Given the description of an element on the screen output the (x, y) to click on. 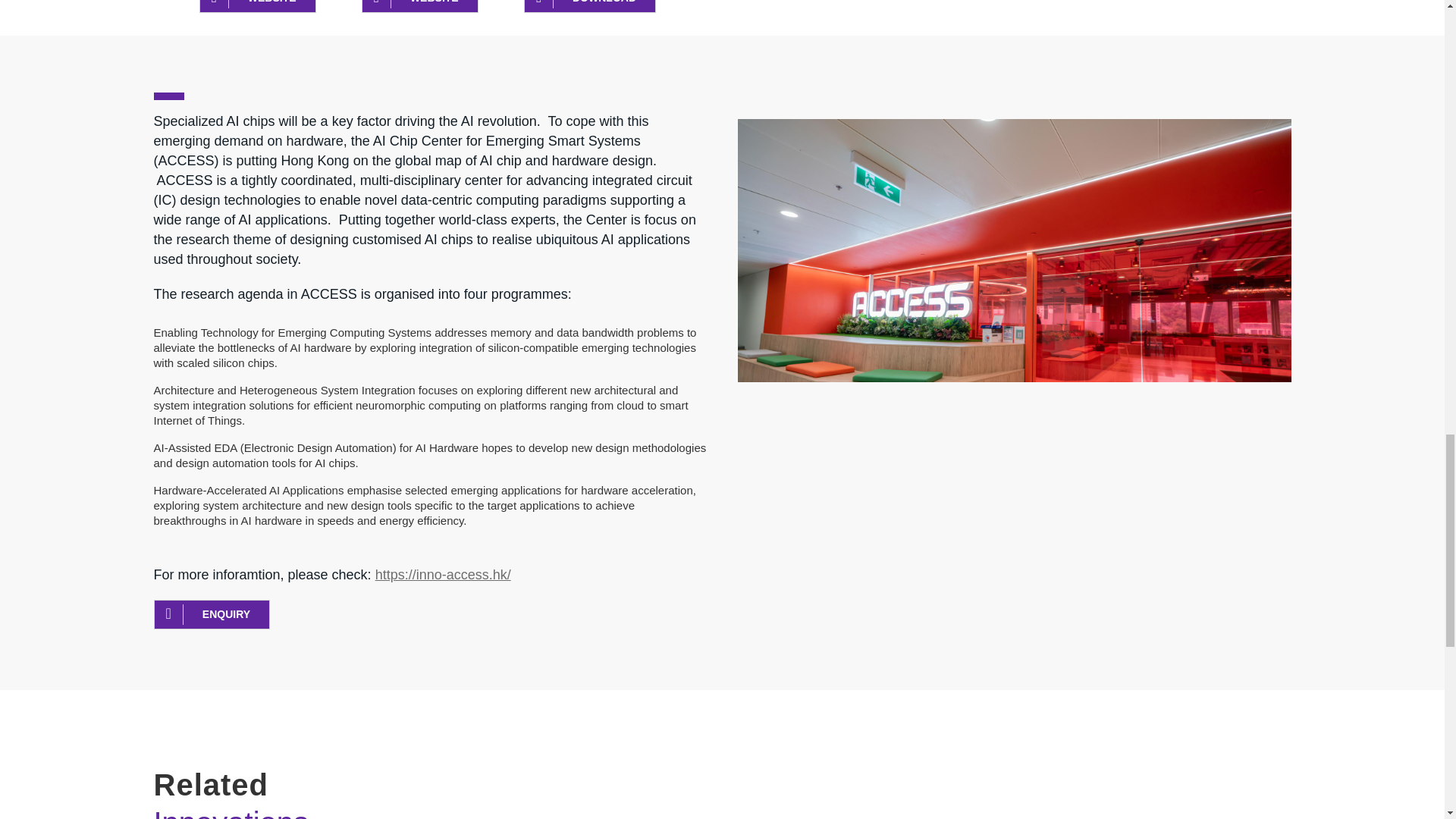
WEBSITE (256, 6)
ENQUIRY (210, 614)
WEBSITE (420, 6)
DOWNLOAD (590, 6)
